Given the description of an element on the screen output the (x, y) to click on. 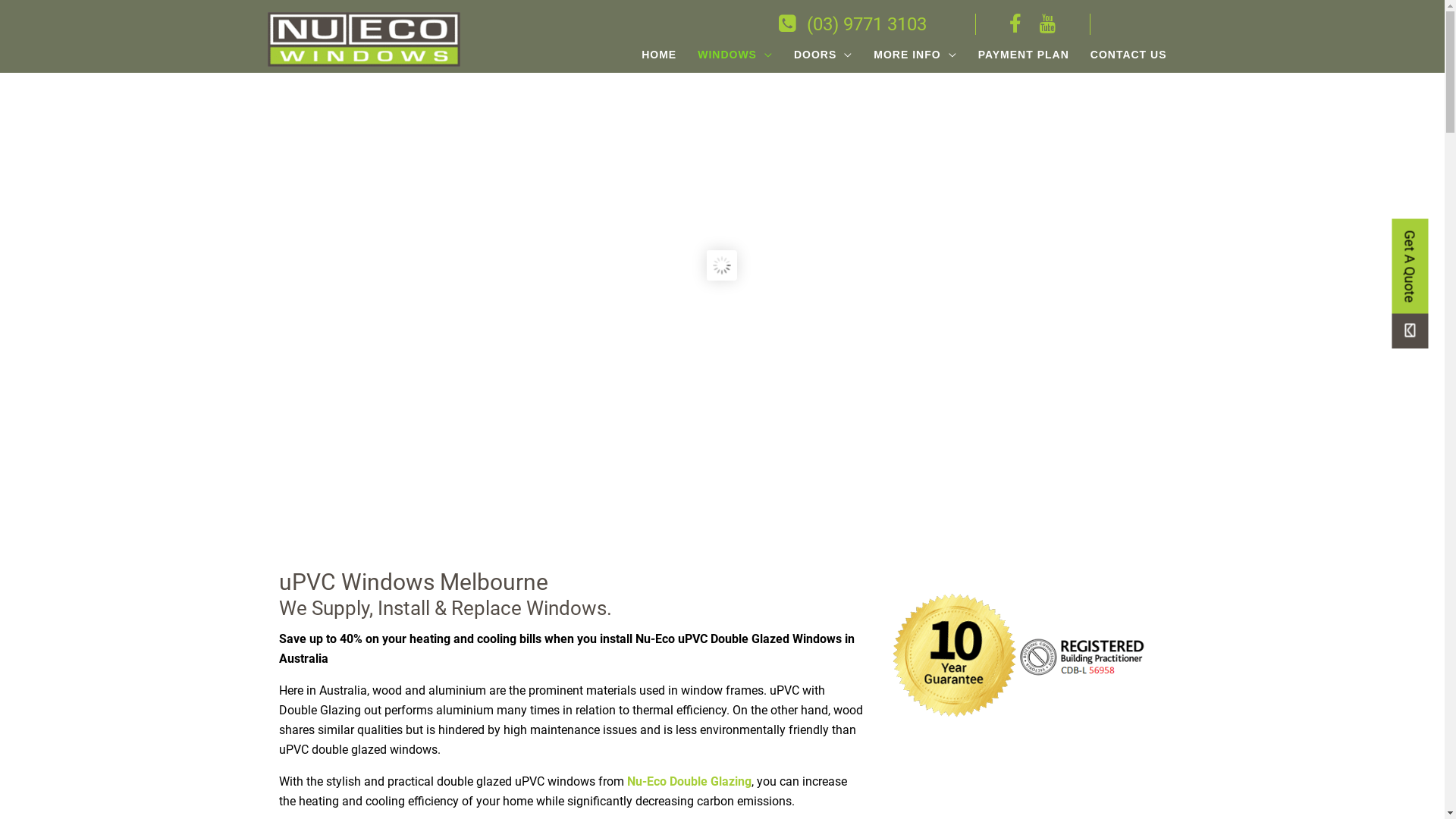
CONTACT US Element type: text (1128, 54)
WINDOWS Element type: text (735, 54)
PAYMENT PLAN Element type: text (1023, 54)
DOORS Element type: text (822, 54)
HOME Element type: text (658, 54)
Nu-Eco Double Glazing Element type: text (688, 781)
MORE INFO Element type: text (914, 54)
(03) 9771 3103 Element type: text (851, 23)
